Given the description of an element on the screen output the (x, y) to click on. 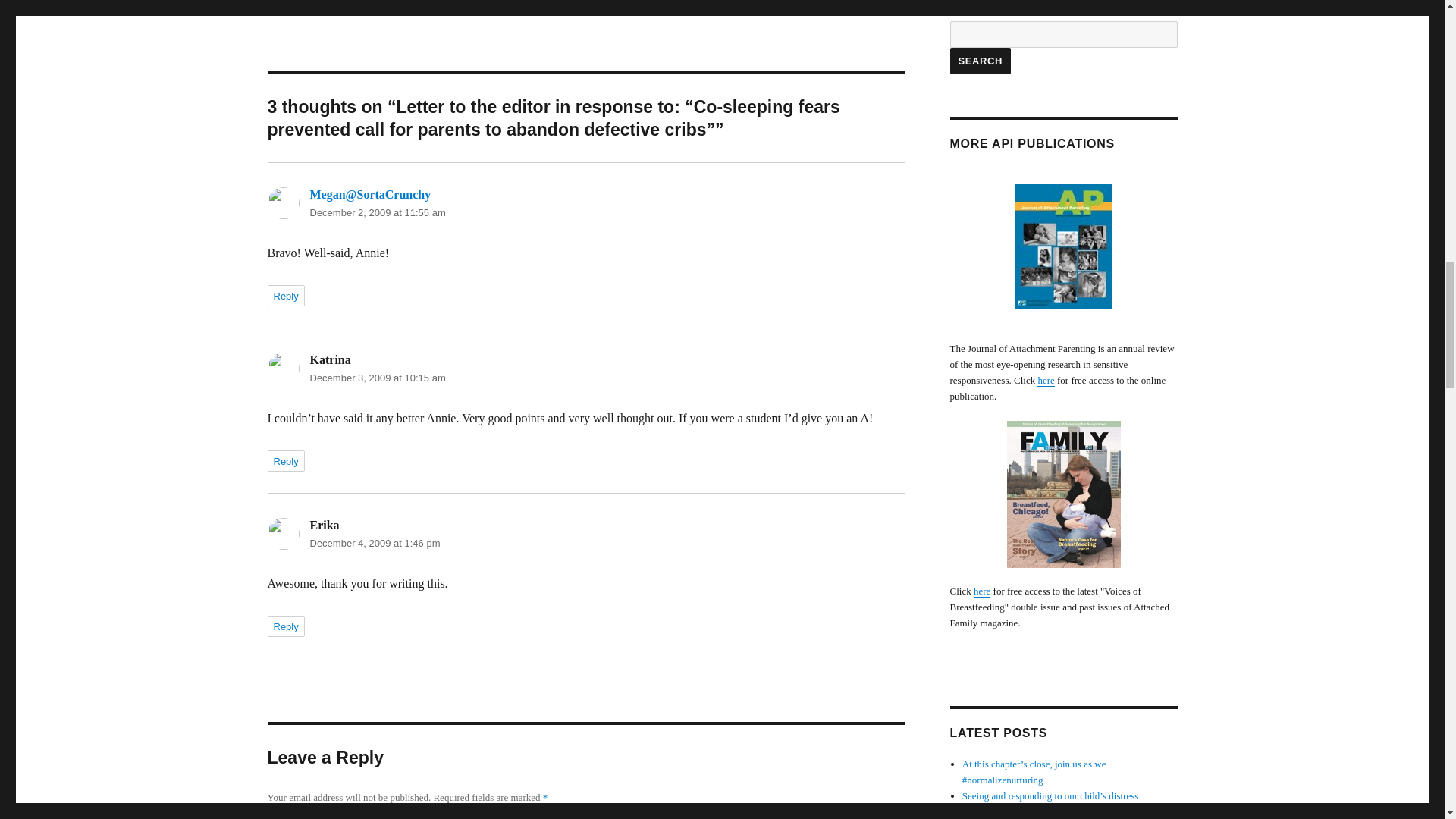
December 4, 2009 at 1:46 pm (373, 542)
Reply (285, 460)
Reply (285, 295)
December 2, 2009 at 11:55 am (376, 212)
December 3, 2009 at 10:15 am (376, 378)
Search (979, 60)
Reply (285, 626)
